Given the description of an element on the screen output the (x, y) to click on. 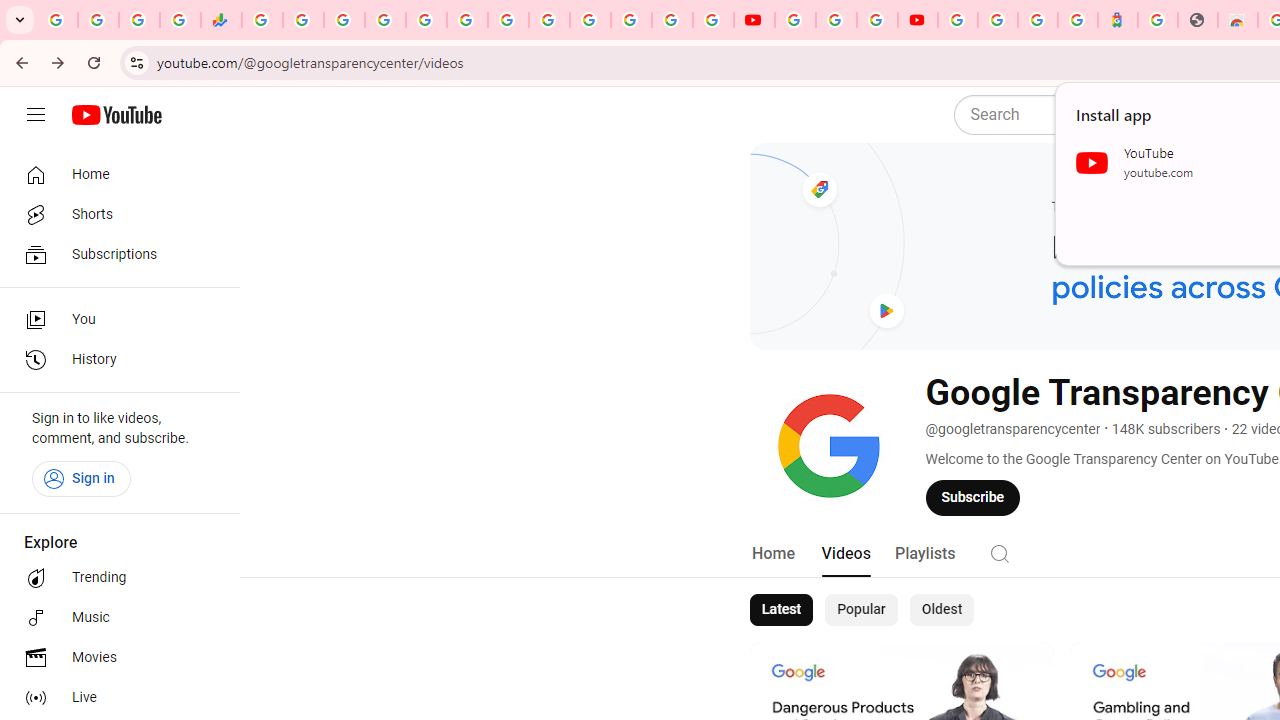
Latest (780, 609)
Chrome Web Store - Household (1238, 20)
Popular (861, 609)
Android TV Policies and Guidelines - Transparency Center (507, 20)
Sign in - Google Accounts (997, 20)
Subscribe (973, 497)
Sign in - Google Accounts (671, 20)
